Given the description of an element on the screen output the (x, y) to click on. 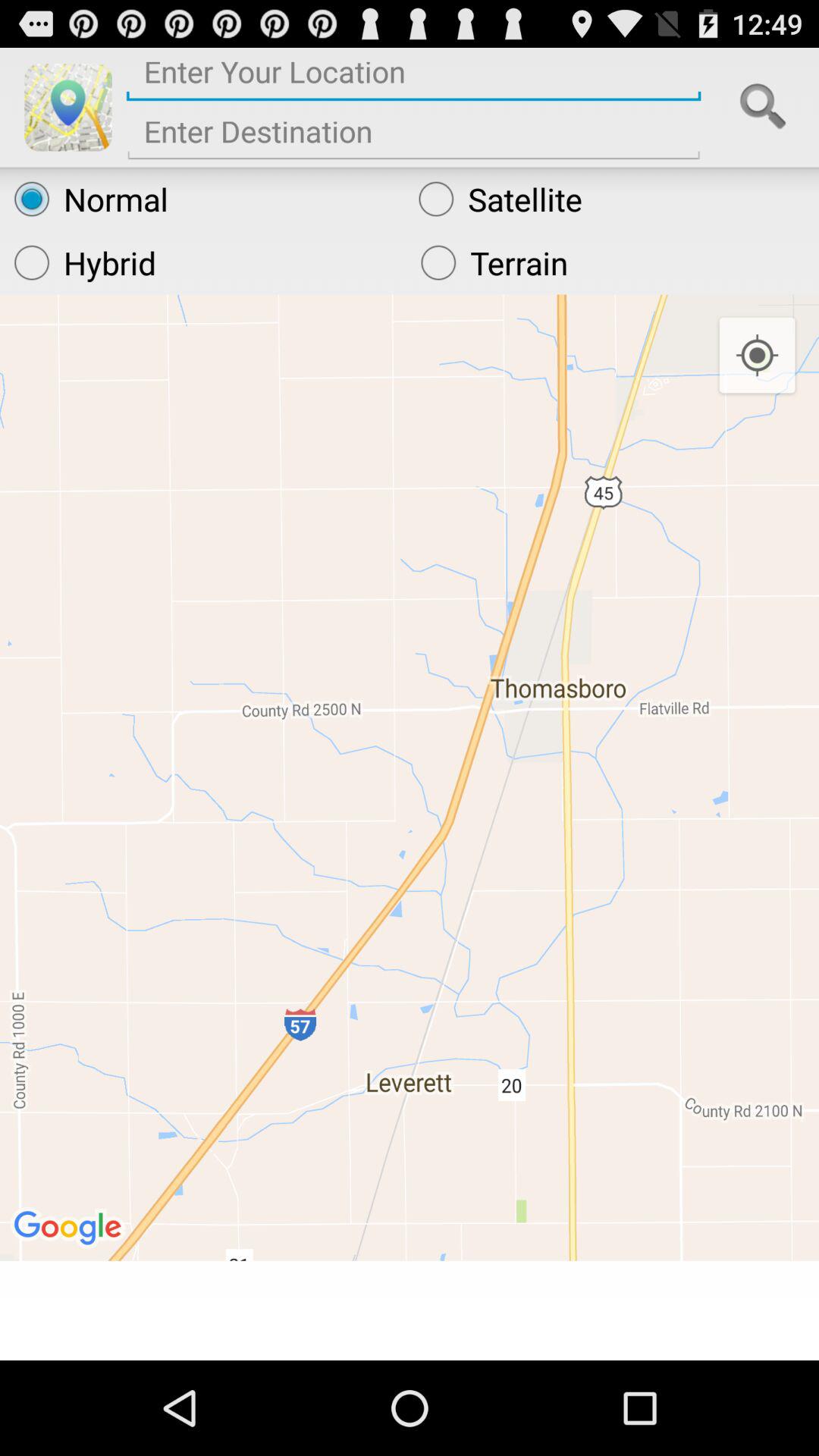
final destination (413, 137)
